Given the description of an element on the screen output the (x, y) to click on. 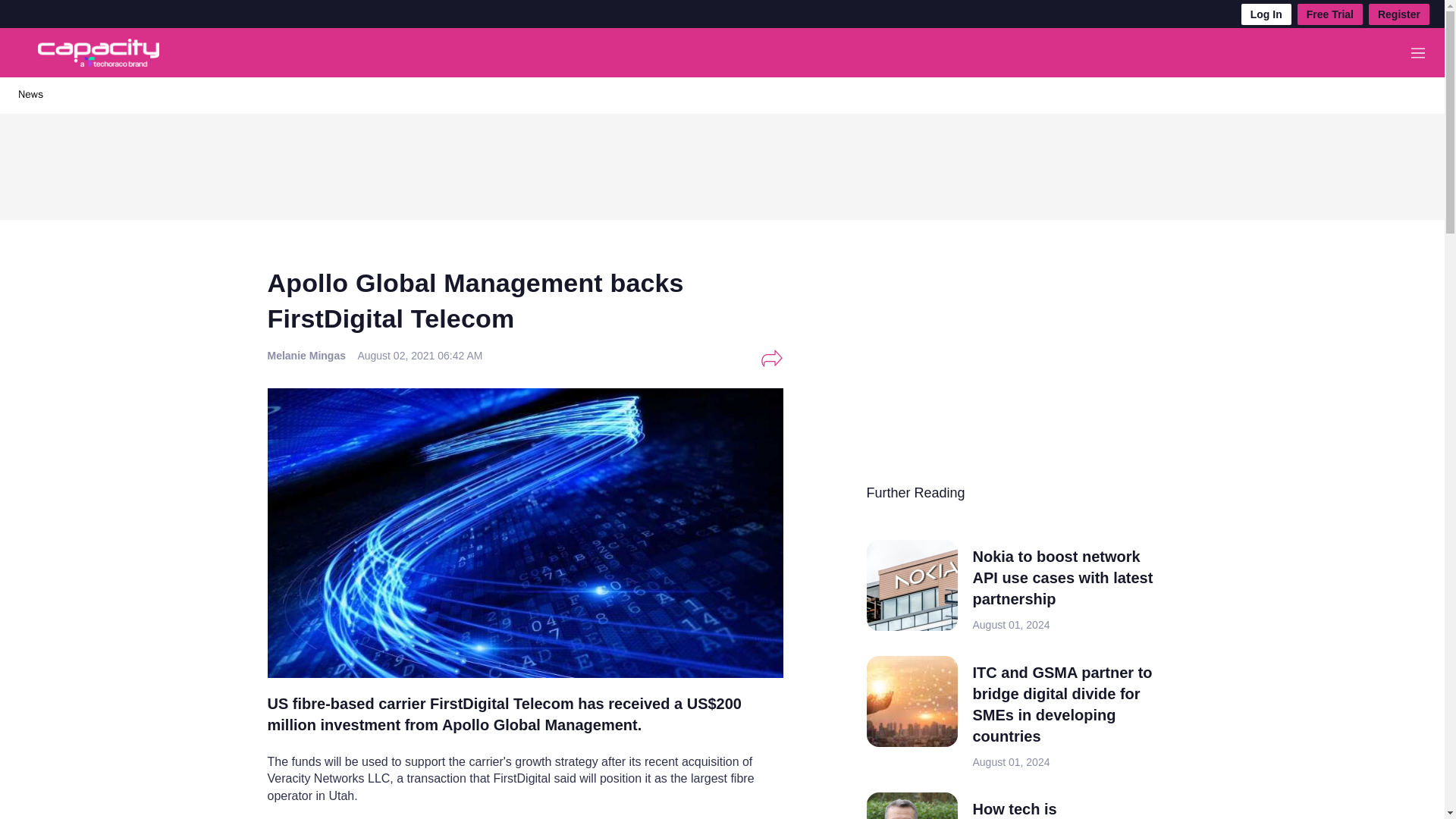
Log In (1266, 13)
Register (1398, 13)
3rd party ad content (979, 375)
Free Trial (1329, 13)
3rd party ad content (721, 162)
Share (771, 358)
